Given the description of an element on the screen output the (x, y) to click on. 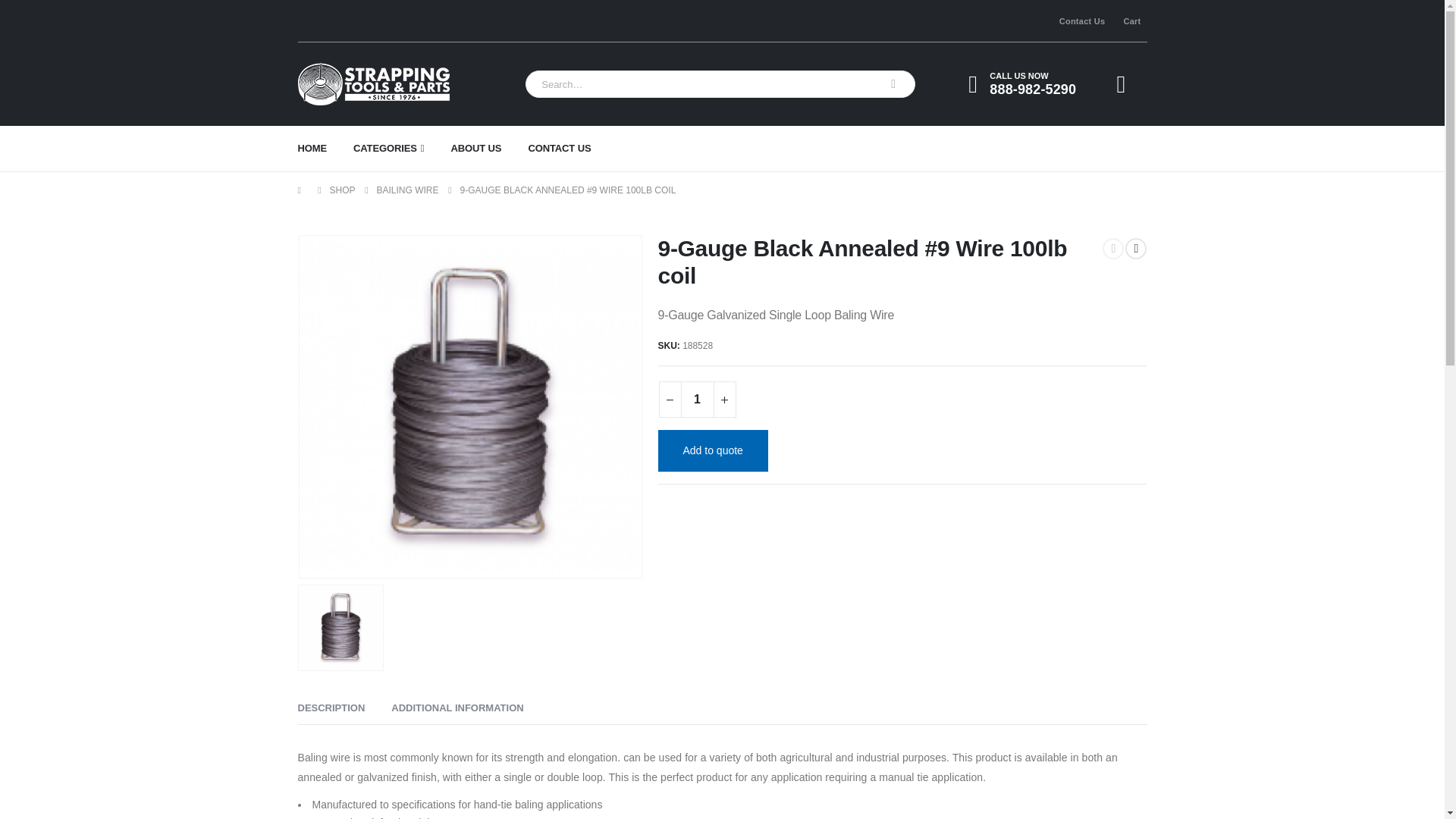
Contact Us (1079, 20)
SHOP (342, 189)
CATEGORIES (401, 148)
Request a Quote (1126, 84)
Add to quote (713, 450)
1 (697, 399)
BAILING WIRE (408, 189)
CONTACT US (571, 148)
Search (893, 84)
Cart (1128, 20)
